Given the description of an element on the screen output the (x, y) to click on. 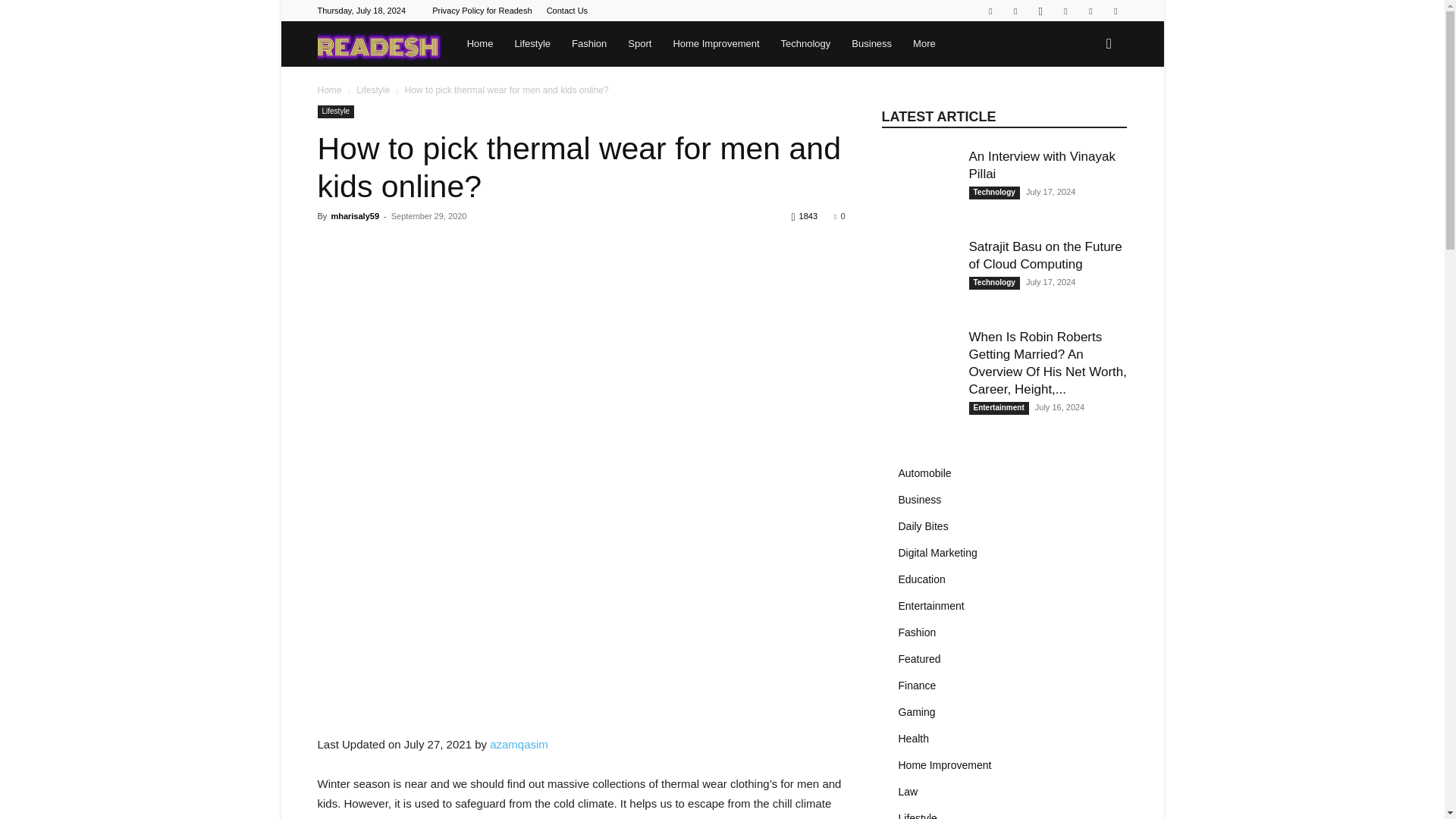
Readish Logo (379, 44)
Behance (989, 10)
Vimeo (1090, 10)
Instagram (1040, 10)
Privacy Policy for Readesh (481, 10)
Facebook (1015, 10)
Twitter (1065, 10)
VKontakte (1114, 10)
Contact Us (567, 10)
